Given the description of an element on the screen output the (x, y) to click on. 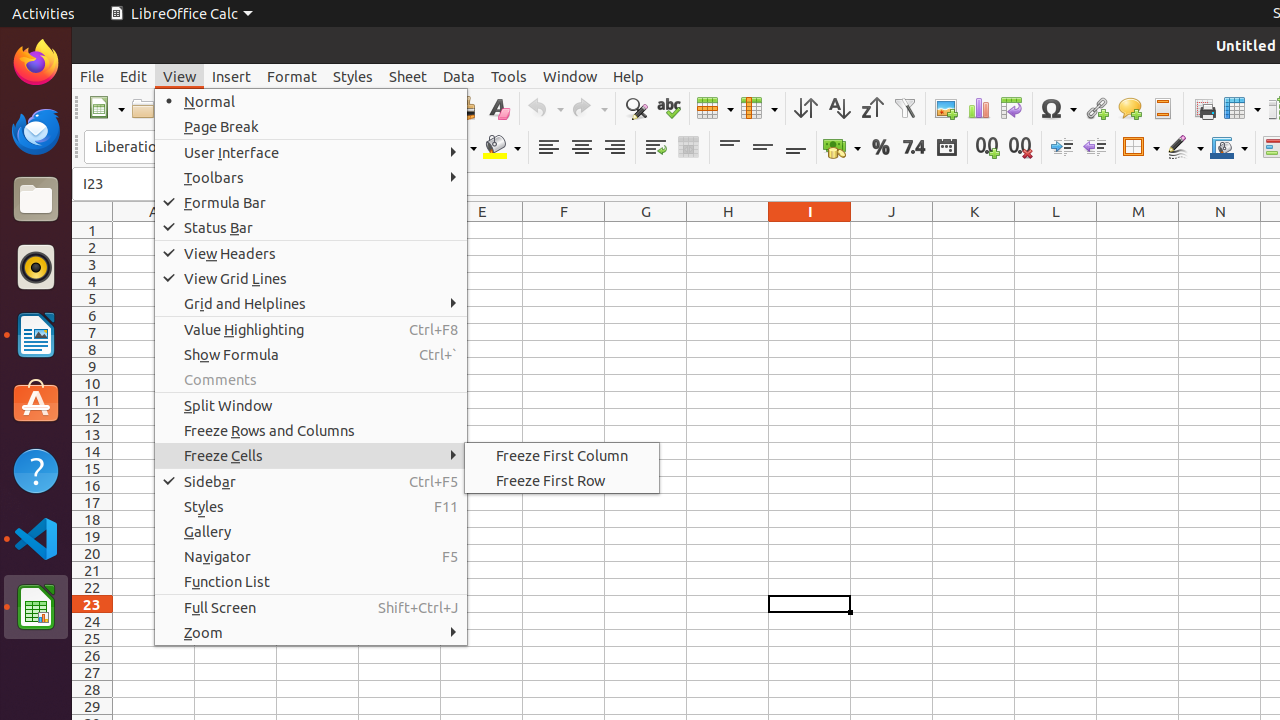
Sort Descending Element type: push-button (871, 108)
New Element type: push-button (106, 108)
Grid and Helplines Element type: menu (311, 303)
Comments Element type: menu-item (311, 379)
Symbol Element type: push-button (1058, 108)
